Given the description of an element on the screen output the (x, y) to click on. 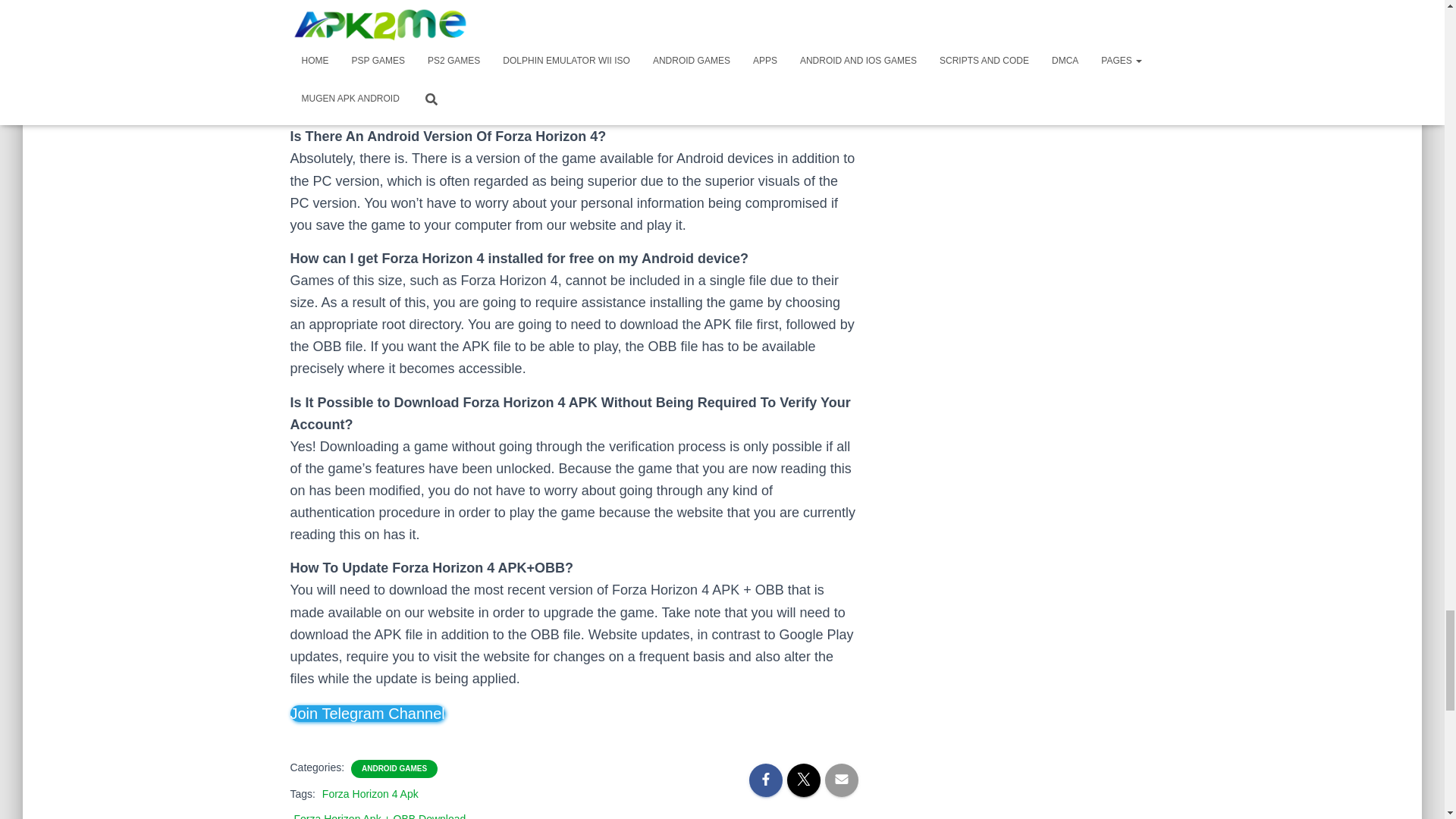
Forza Horizon 4 Apk (370, 793)
ANDROID GAMES (393, 768)
Join Telegram Channel (366, 713)
